Given the description of an element on the screen output the (x, y) to click on. 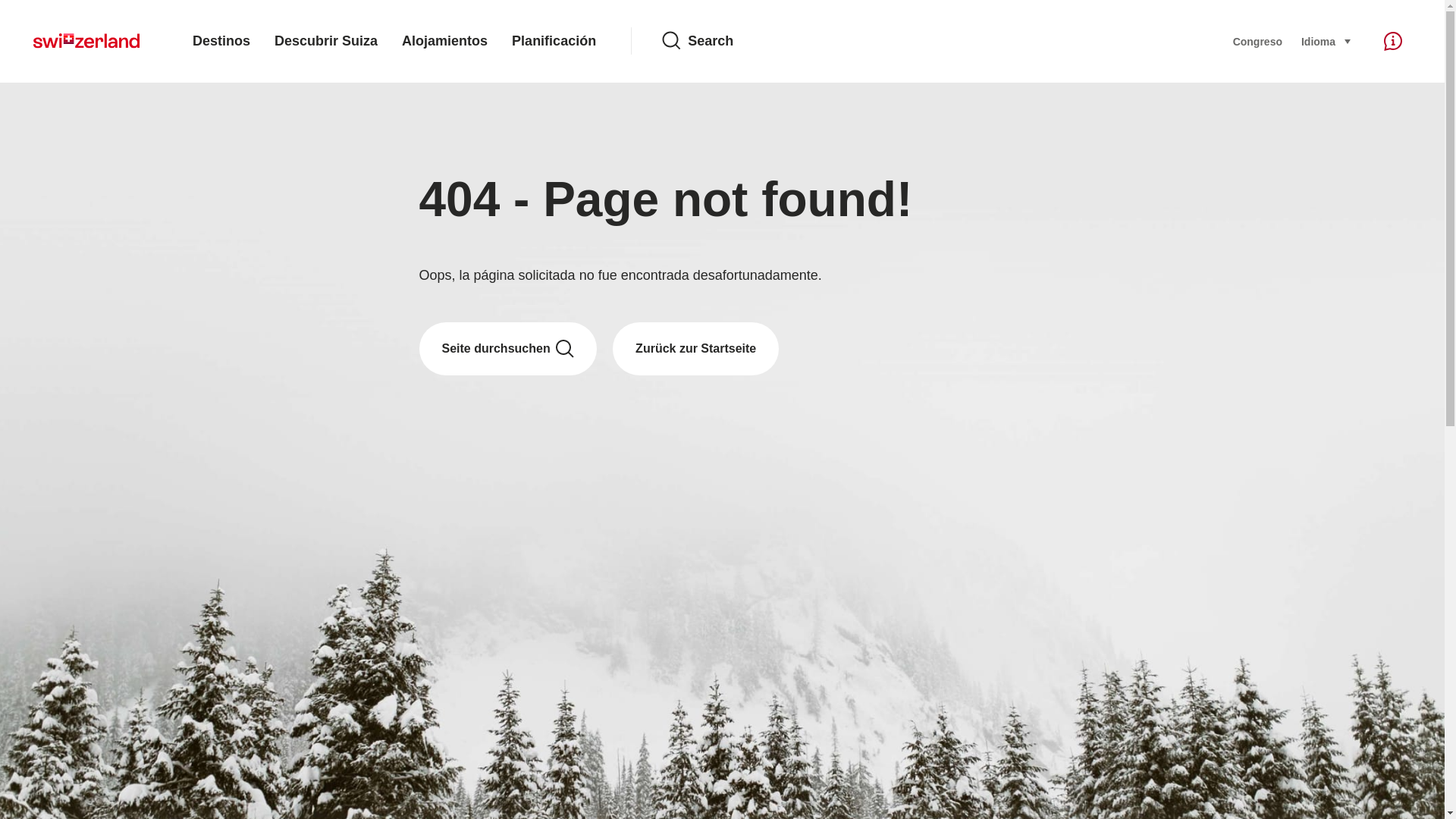
Destinos (221, 41)
Descubrir Suiza (326, 41)
Alojamientos (444, 41)
Search (935, 41)
Congreso (1257, 40)
MySwitzerland (86, 41)
